Given the description of an element on the screen output the (x, y) to click on. 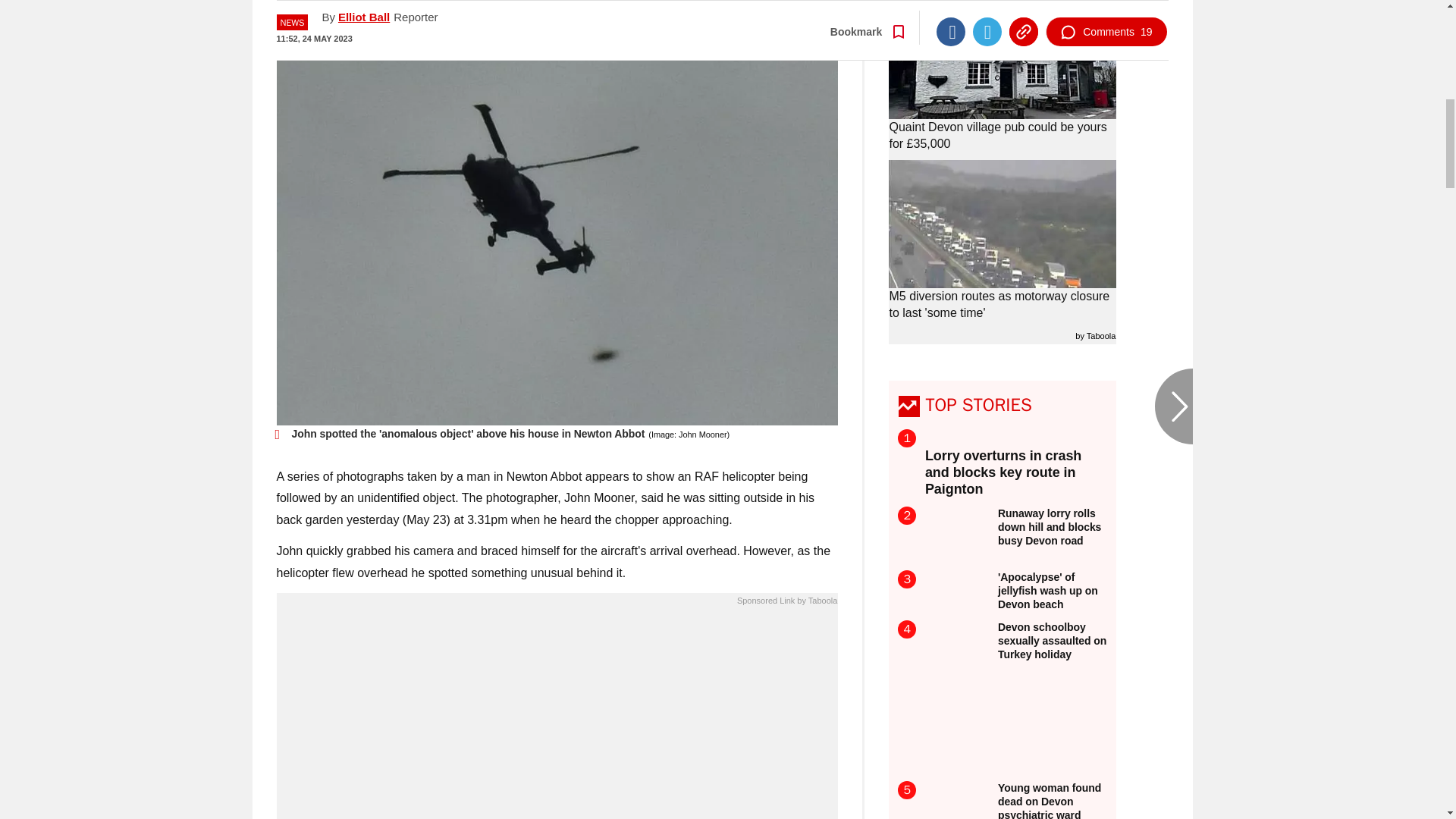
Go (730, 17)
The One Baking Soda Trick Everyone Should Know About (557, 717)
